Given the description of an element on the screen output the (x, y) to click on. 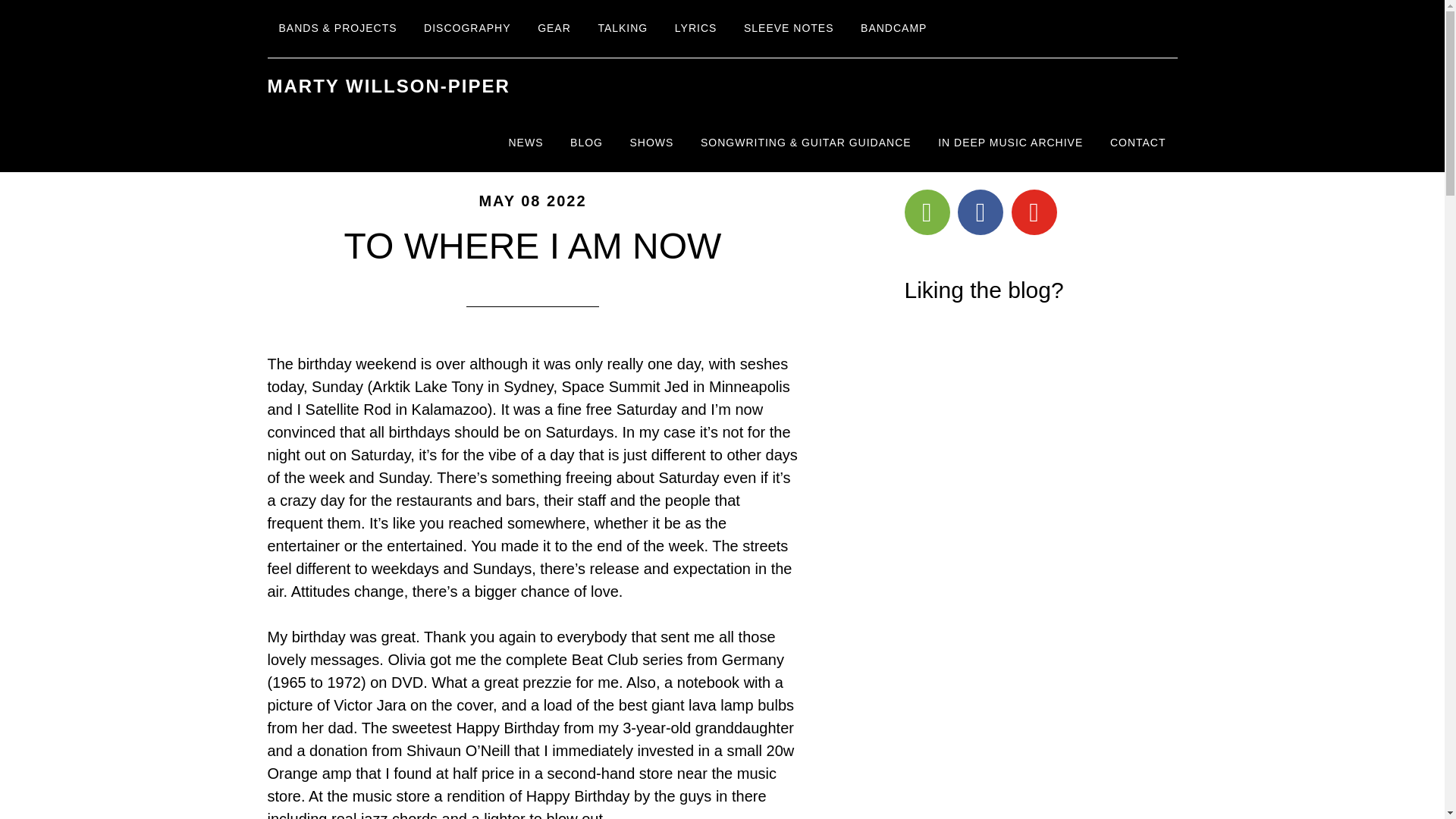
Facebook (980, 212)
TALKING (622, 28)
GEAR (553, 28)
SLEEVE NOTES (788, 28)
DISCOGRAPHY (466, 28)
Spotify (926, 212)
YouTube (1034, 212)
LYRICS (696, 28)
